Given the description of an element on the screen output the (x, y) to click on. 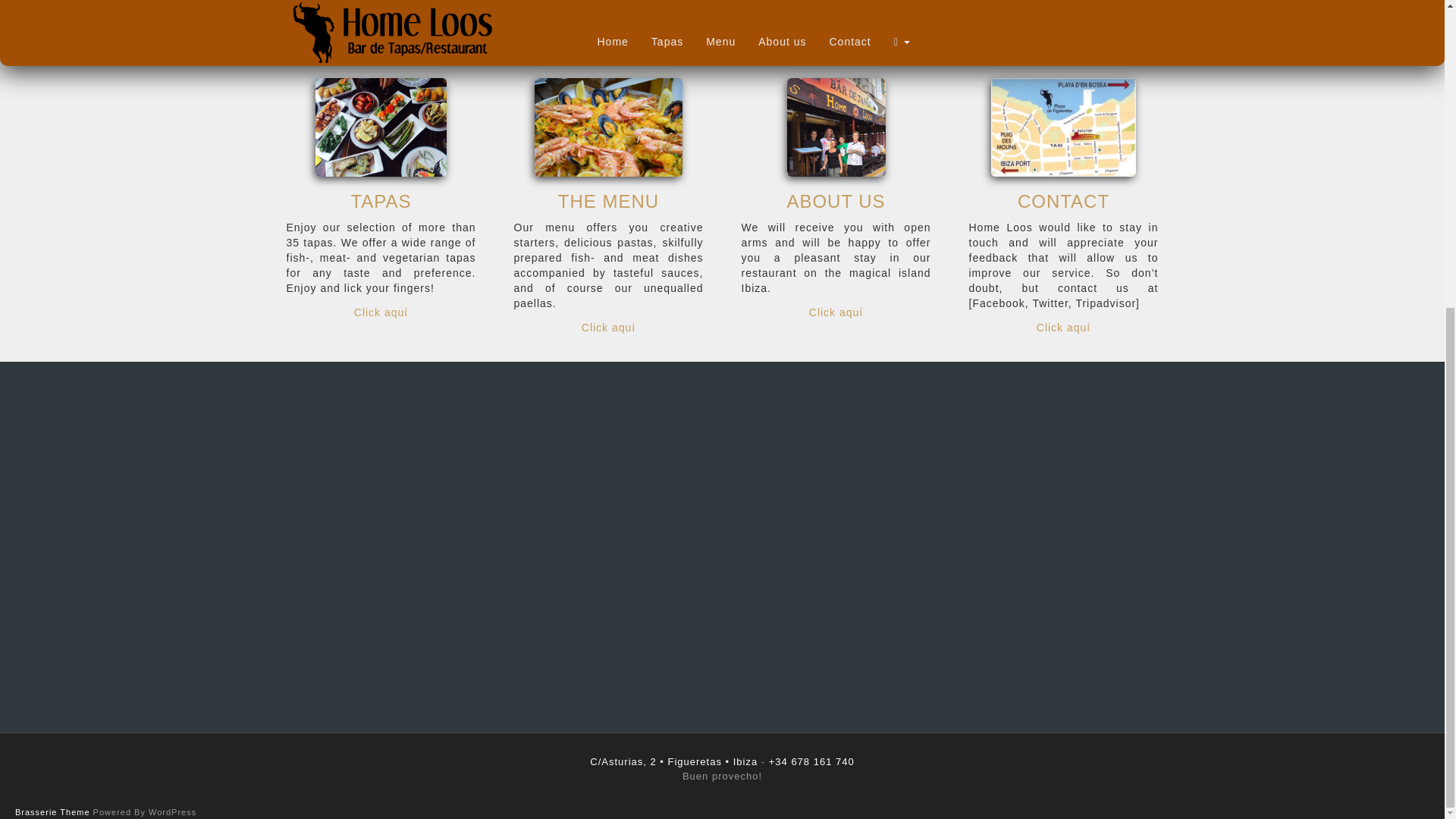
THE MENU (608, 200)
TAPAS (380, 200)
CONTACT (1063, 200)
Brasserie Theme (52, 811)
ABOUT US (835, 200)
